Given the description of an element on the screen output the (x, y) to click on. 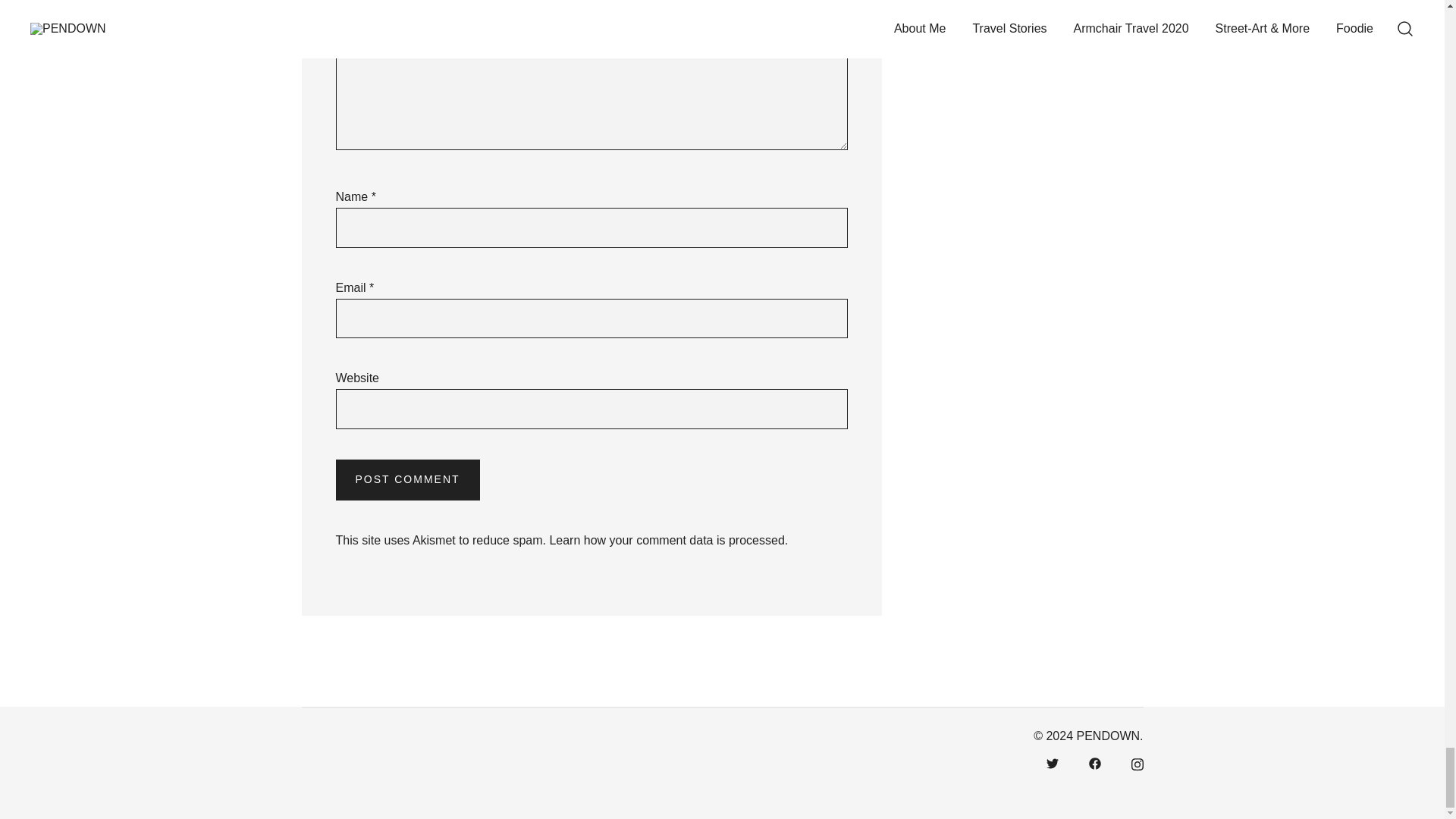
Post Comment (406, 479)
